Given the description of an element on the screen output the (x, y) to click on. 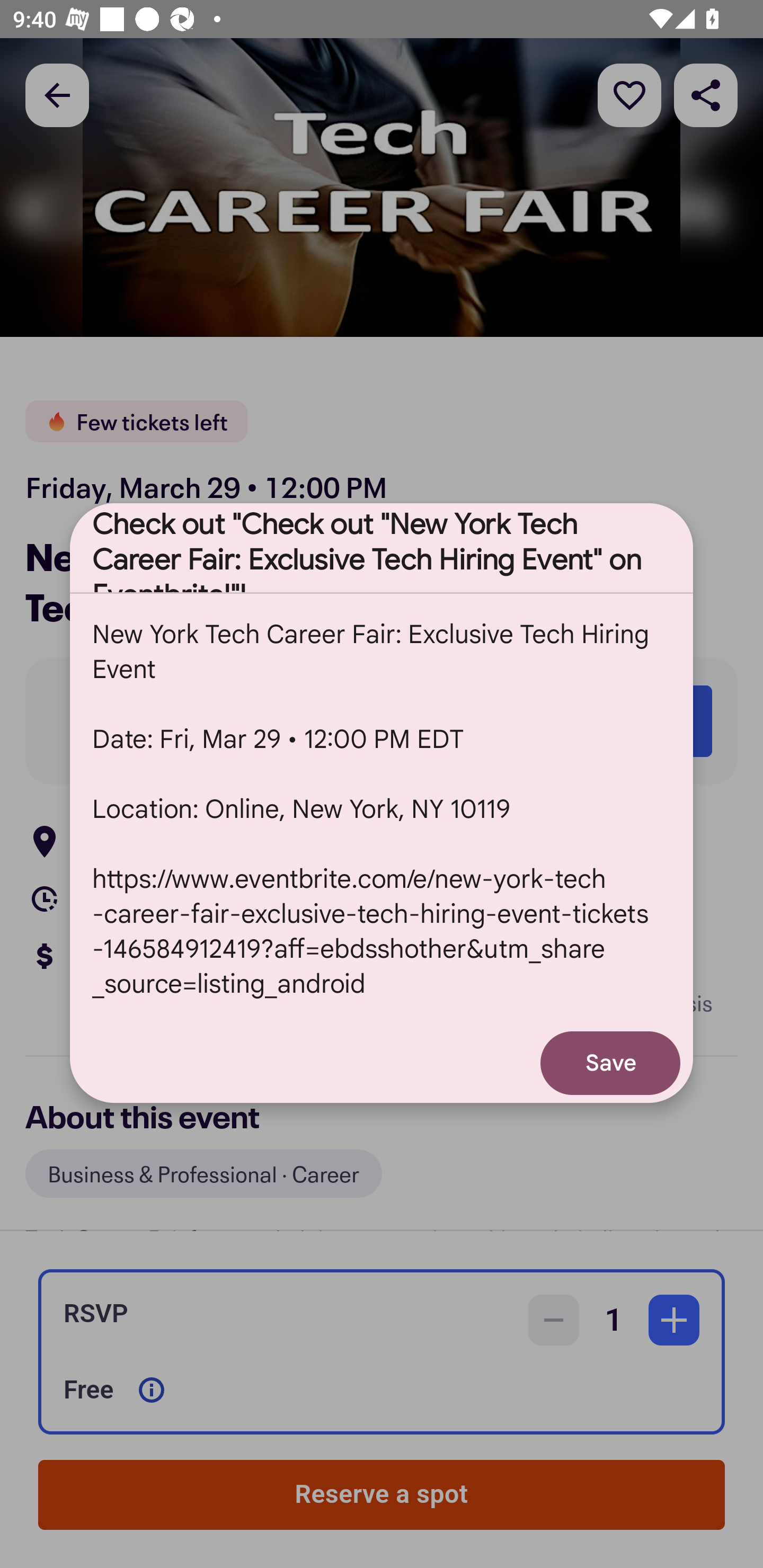
Save (610, 1062)
